Given the description of an element on the screen output the (x, y) to click on. 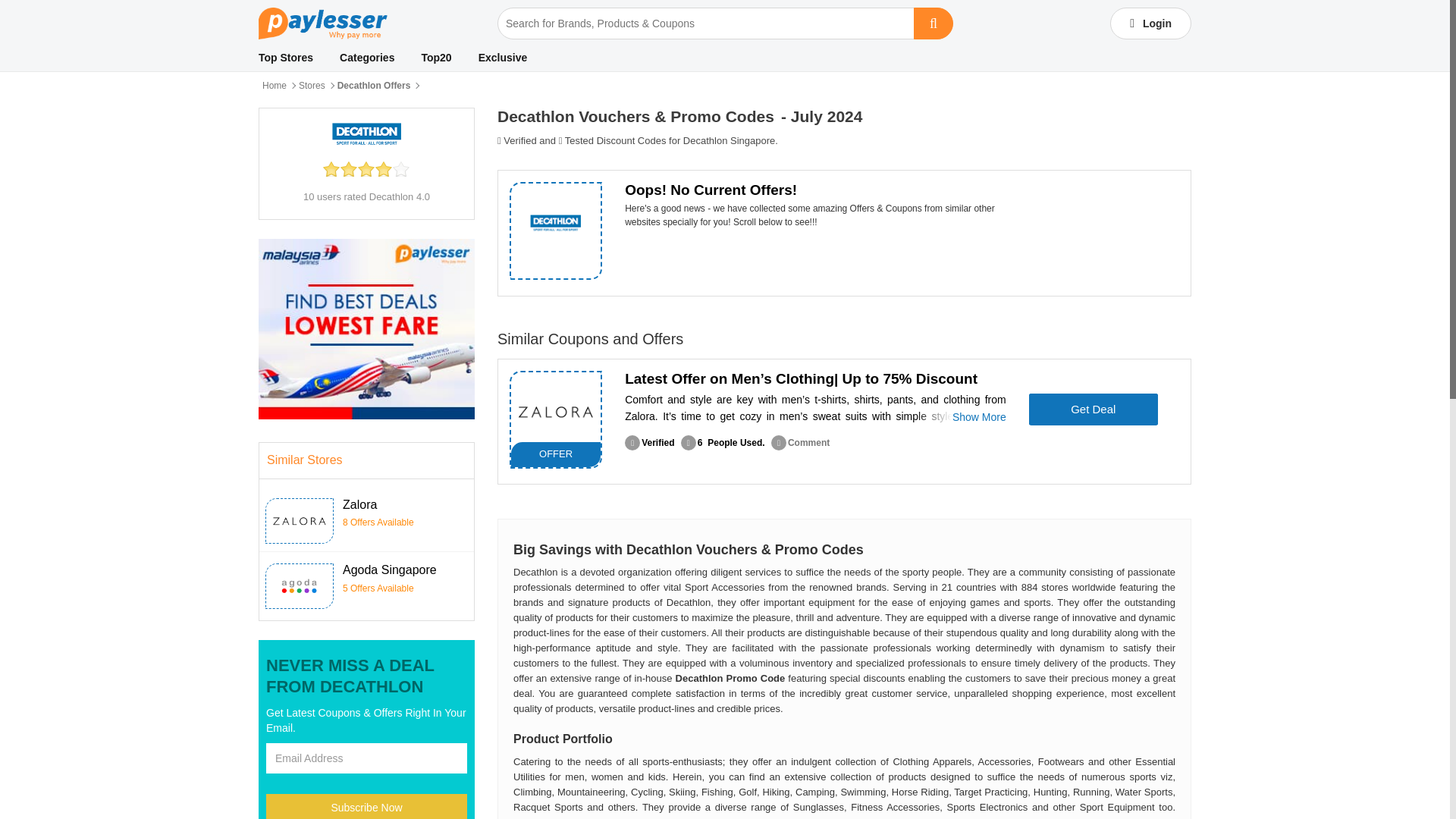
Agoda Singapore coupon (299, 586)
Categories (366, 58)
Top Stores (286, 58)
Top20 (435, 58)
Login (1150, 23)
Zalora coupon (299, 520)
Zalora offers (554, 411)
Exclusive (503, 58)
